Given the description of an element on the screen output the (x, y) to click on. 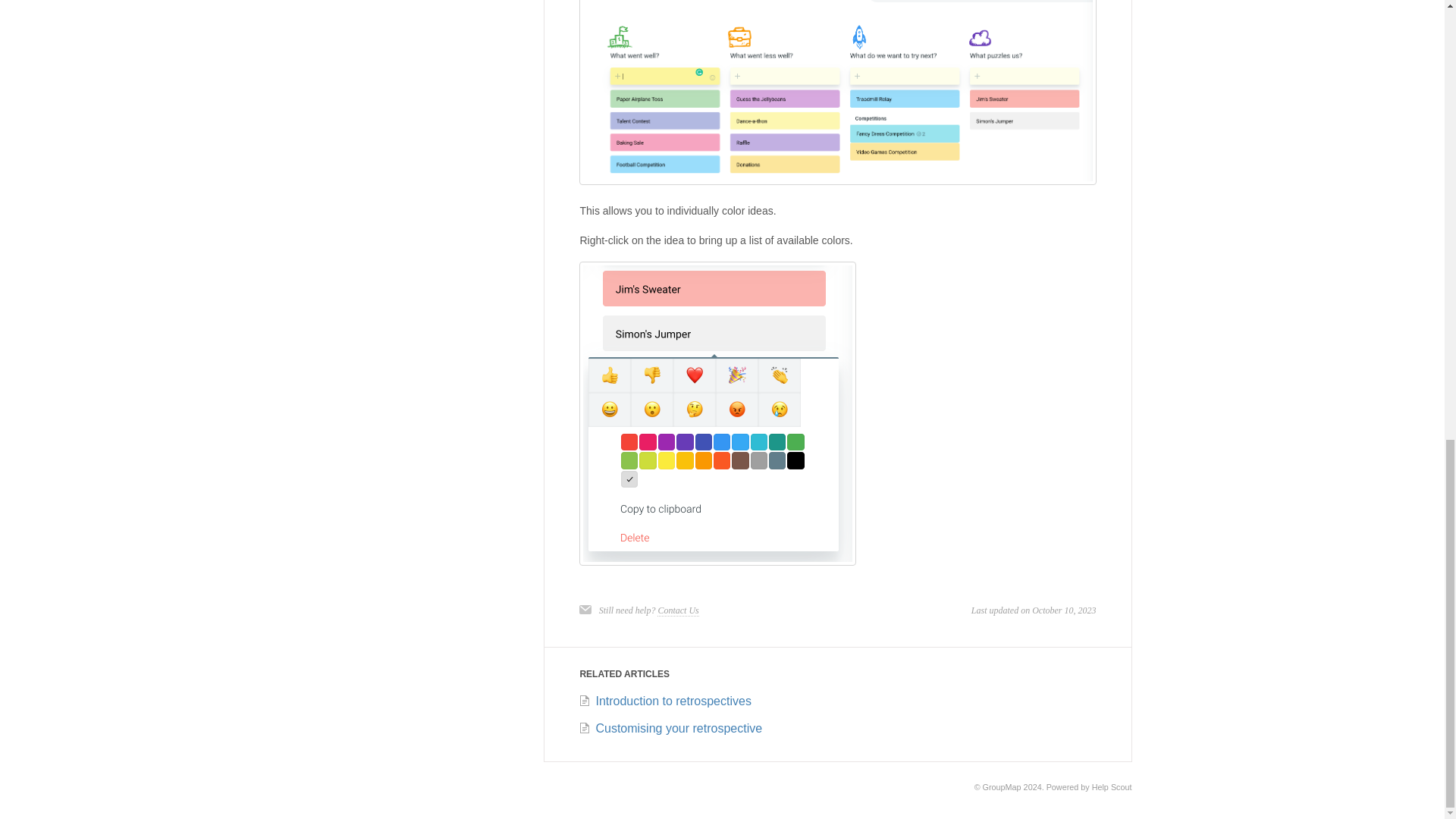
Contact Us (678, 610)
GroupMap (1002, 786)
Customising your retrospective (669, 727)
Introduction to retrospectives (664, 700)
Help Scout (1112, 786)
